Given the description of an element on the screen output the (x, y) to click on. 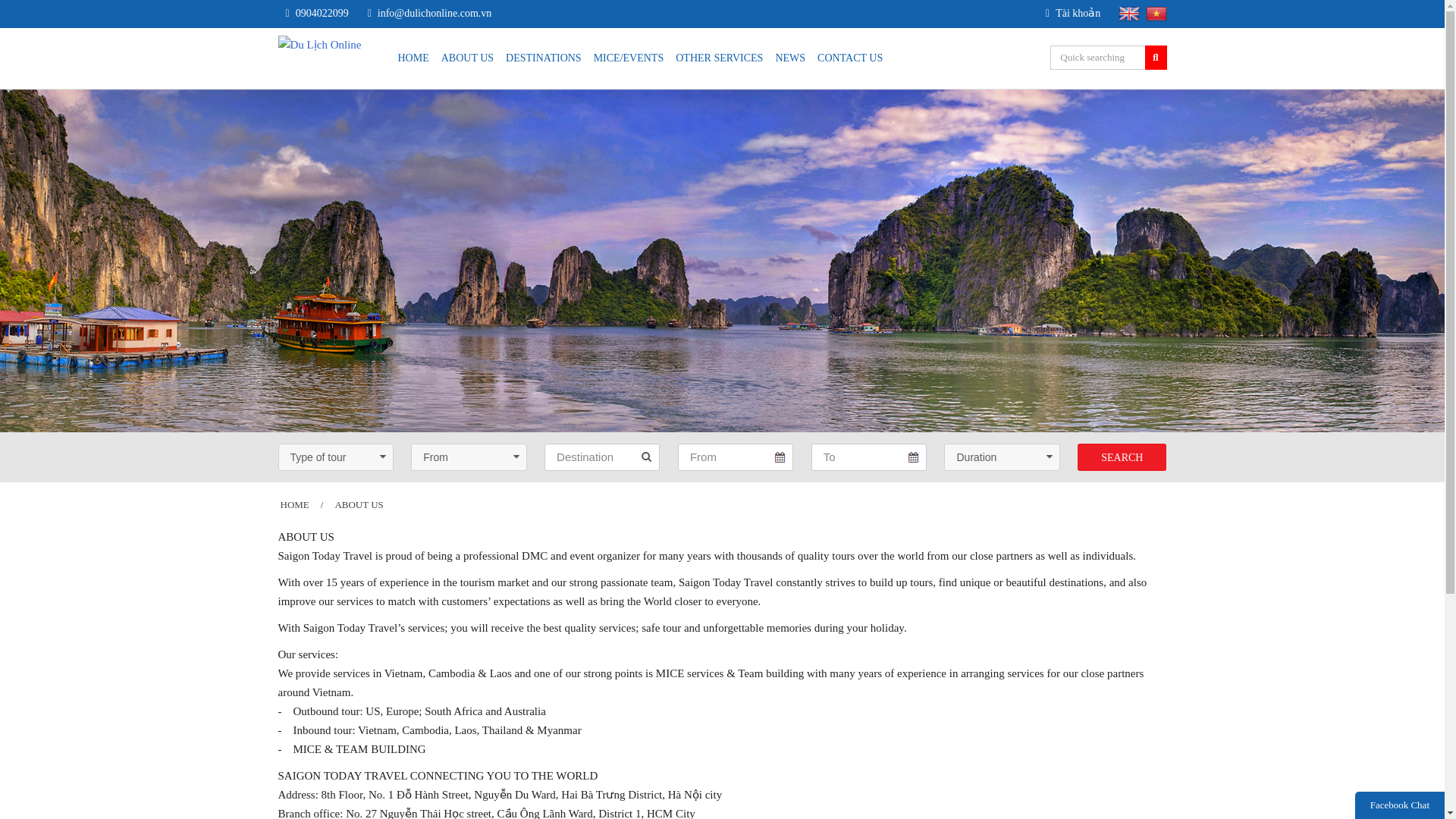
DESTINATIONS (543, 57)
About us (358, 504)
Quick searching (1096, 57)
0904022099 (325, 13)
ABOUT US (467, 57)
